Given the description of an element on the screen output the (x, y) to click on. 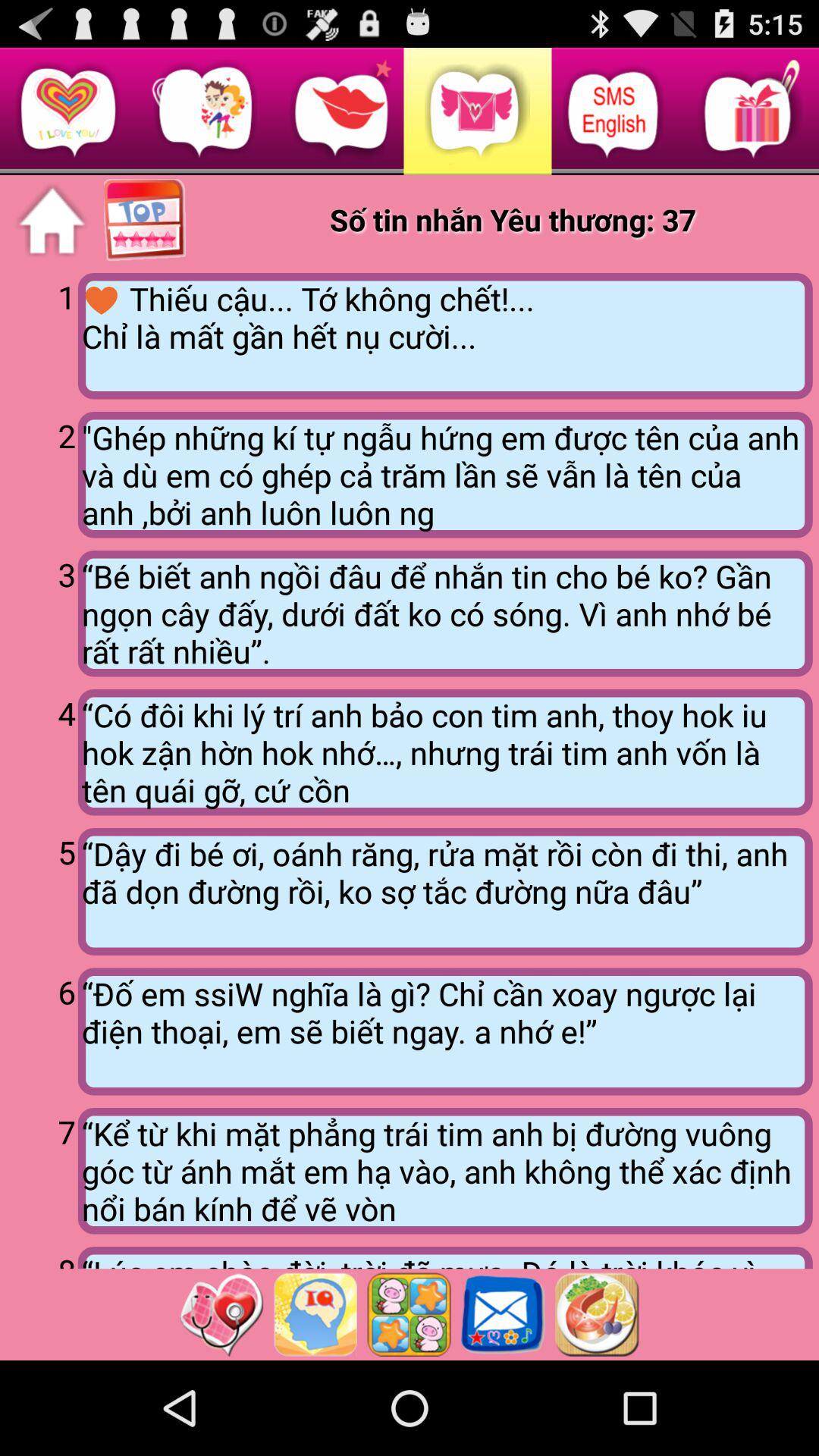
top post (145, 220)
